Given the description of an element on the screen output the (x, y) to click on. 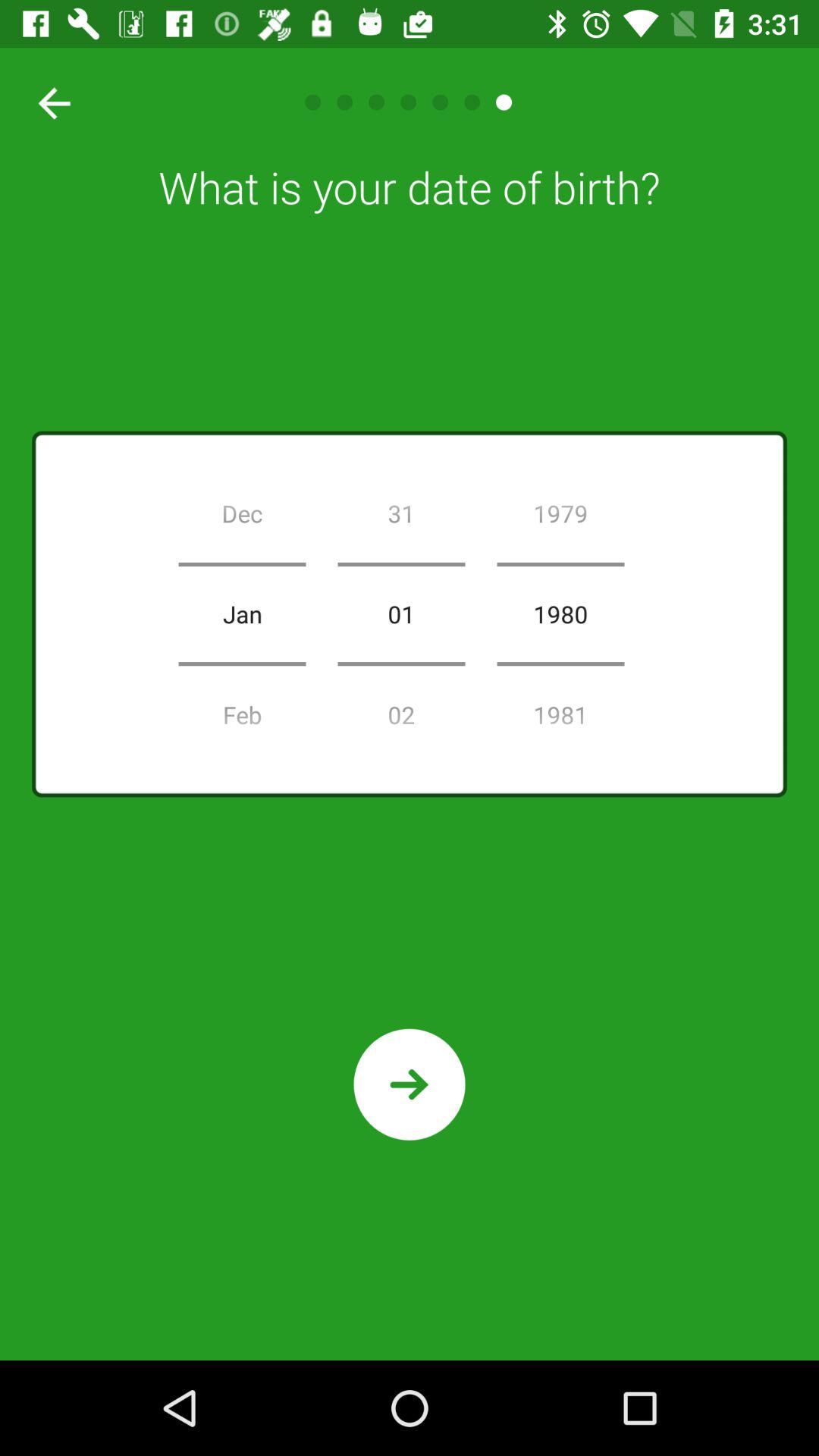
go to next (409, 1084)
